Given the description of an element on the screen output the (x, y) to click on. 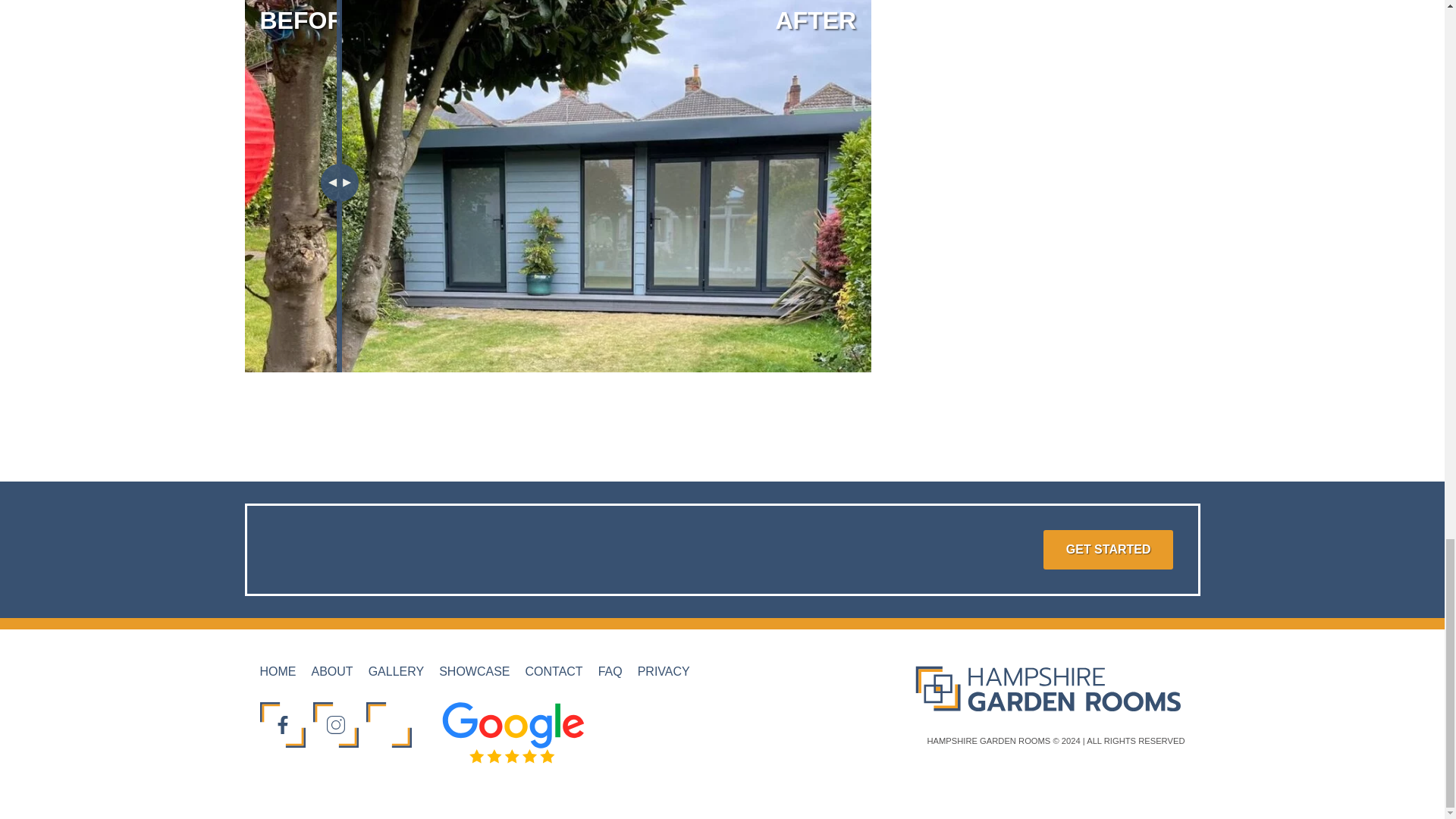
PRIVACY (663, 671)
FAQ (610, 671)
CONTACT (553, 671)
HOME (277, 671)
ABOUT (331, 671)
SHOWCASE (474, 671)
GALLERY (396, 671)
GET STARTED (1108, 549)
